Given the description of an element on the screen output the (x, y) to click on. 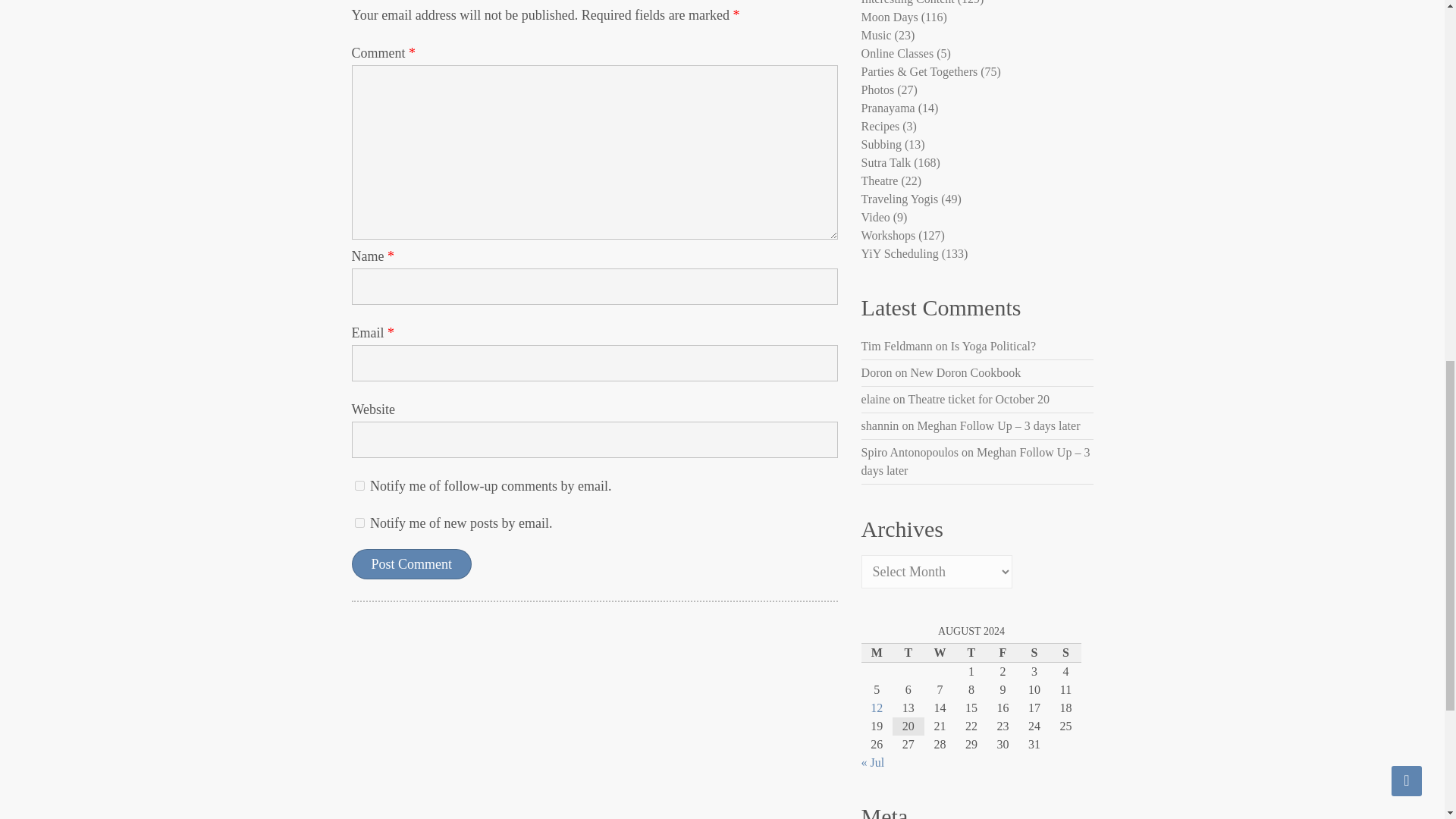
Photos (878, 89)
Theatre (879, 180)
Online Classes (897, 52)
Sunday (1065, 652)
Friday (1003, 652)
Recipes (880, 125)
Music (876, 34)
Post Comment (411, 563)
Thursday (971, 652)
Subbing (881, 144)
